Given the description of an element on the screen output the (x, y) to click on. 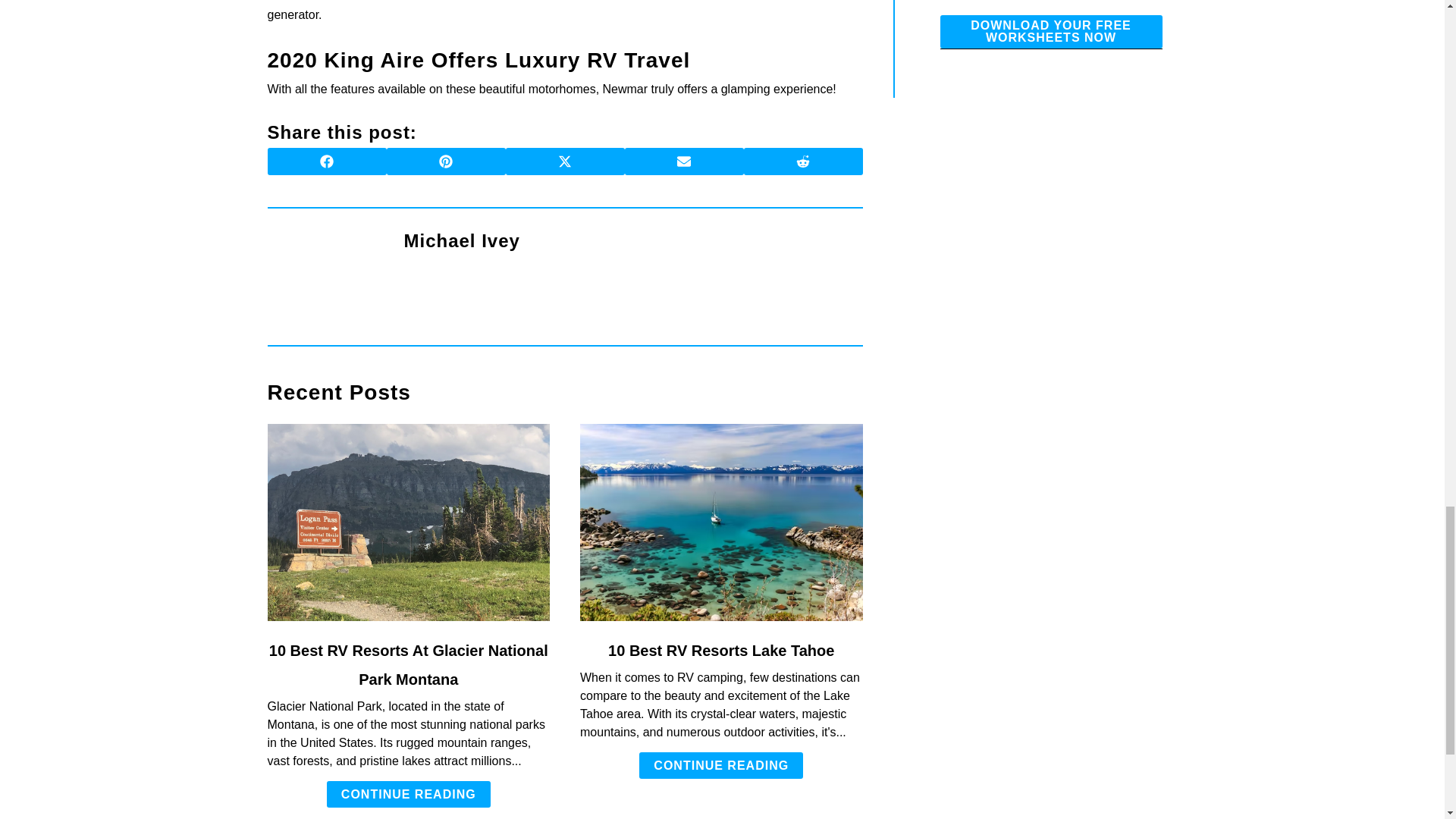
Download Your Free Worksheets Now (1050, 31)
